Given the description of an element on the screen output the (x, y) to click on. 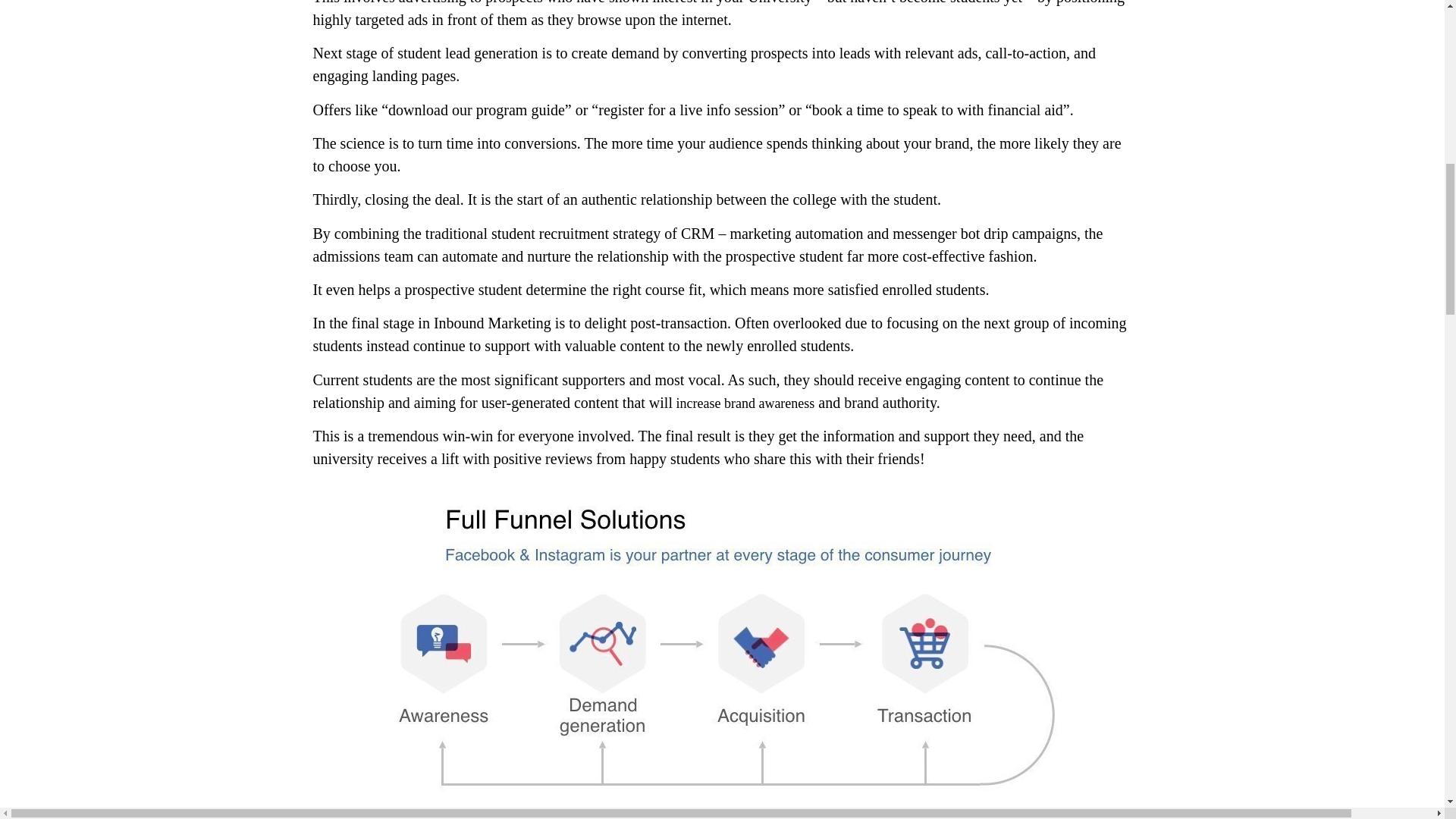
increase brand awareness (742, 403)
